Given the description of an element on the screen output the (x, y) to click on. 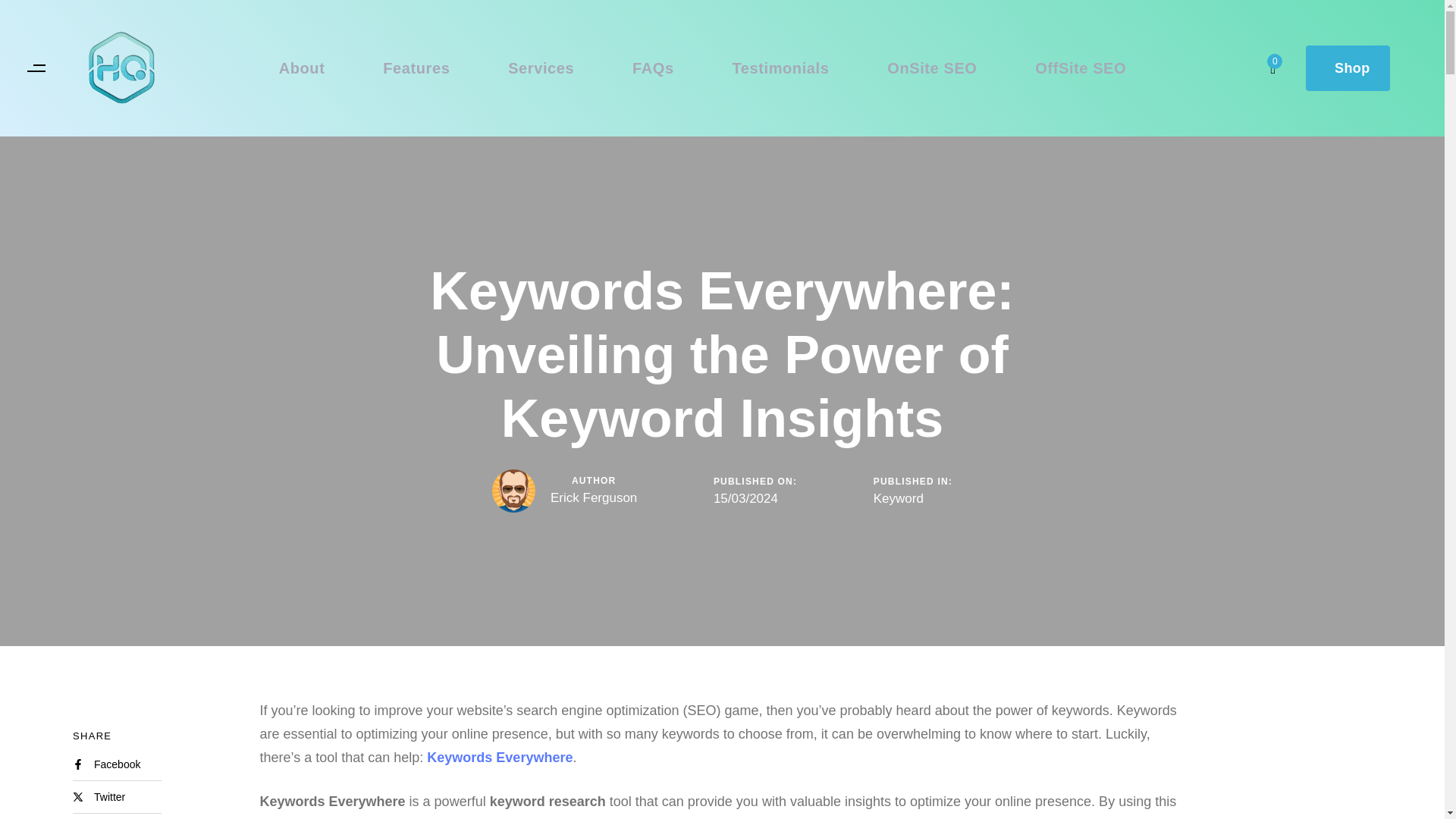
OffSite SEO (1081, 68)
Posts by Erick Ferguson (593, 497)
OnSite SEO (932, 68)
Testimonials (781, 68)
Features (416, 68)
Services (541, 68)
